Given the description of an element on the screen output the (x, y) to click on. 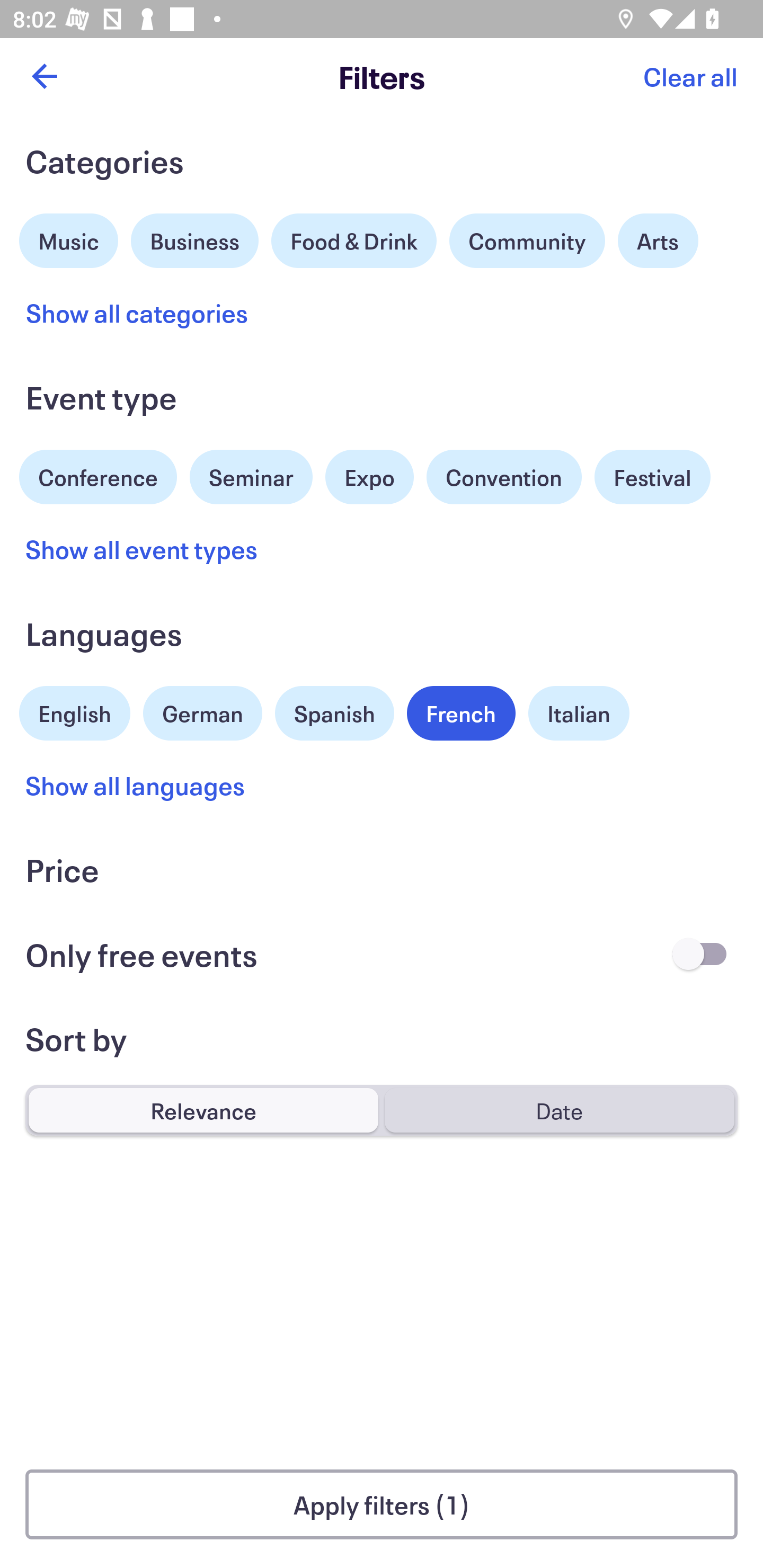
Back button (44, 75)
Clear all (690, 75)
Music (68, 238)
Business (194, 238)
Food & Drink (353, 240)
Community (527, 240)
Arts (658, 240)
Show all categories (136, 312)
Conference (98, 475)
Seminar (250, 477)
Expo (369, 477)
Convention (503, 477)
Festival (652, 477)
Show all event types (141, 548)
English (74, 710)
German (202, 710)
Spanish (334, 713)
French (460, 713)
Italian (578, 713)
Show all languages (135, 784)
Relevance (203, 1109)
Date (559, 1109)
Apply filters (1) (381, 1504)
